Given the description of an element on the screen output the (x, y) to click on. 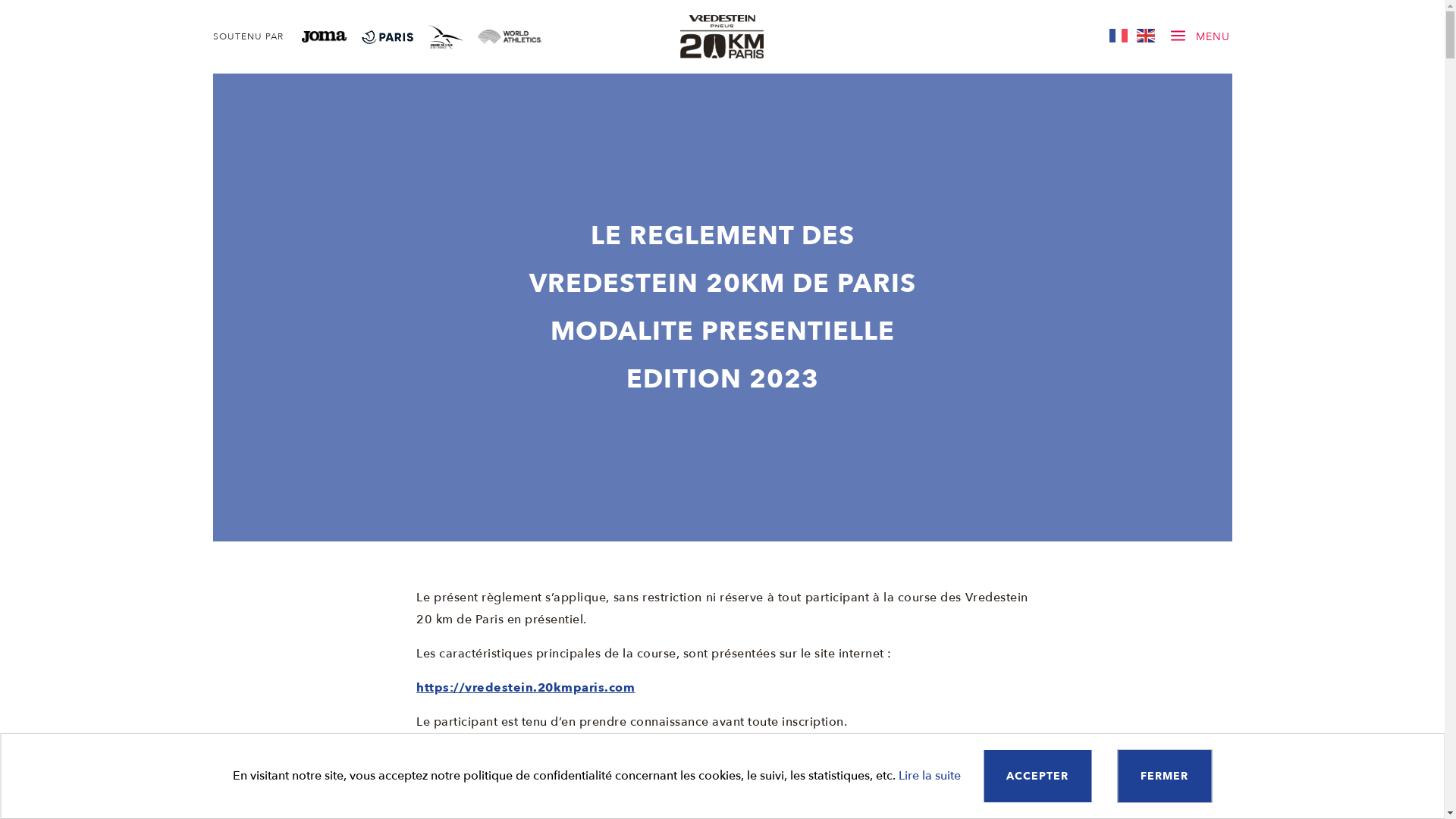
https://vredestein.20kmparis.com Element type: text (525, 687)
FERMER Element type: text (1164, 776)
mairie-paris-noir-horizontal@2x Element type: hover (386, 39)
MENU Element type: text (1212, 36)
ACCEPTER Element type: text (1037, 775)
Lire la suite Element type: text (929, 775)
wa-logo Element type: hover (509, 39)
Vredestein 20km de Paris Element type: hover (721, 54)
English Element type: hover (1146, 34)
partenaires-header-joma-2x Element type: hover (323, 38)
partenaires-header-armee-de-l-air-espace@2x Element type: hover (444, 45)
